Given the description of an element on the screen output the (x, y) to click on. 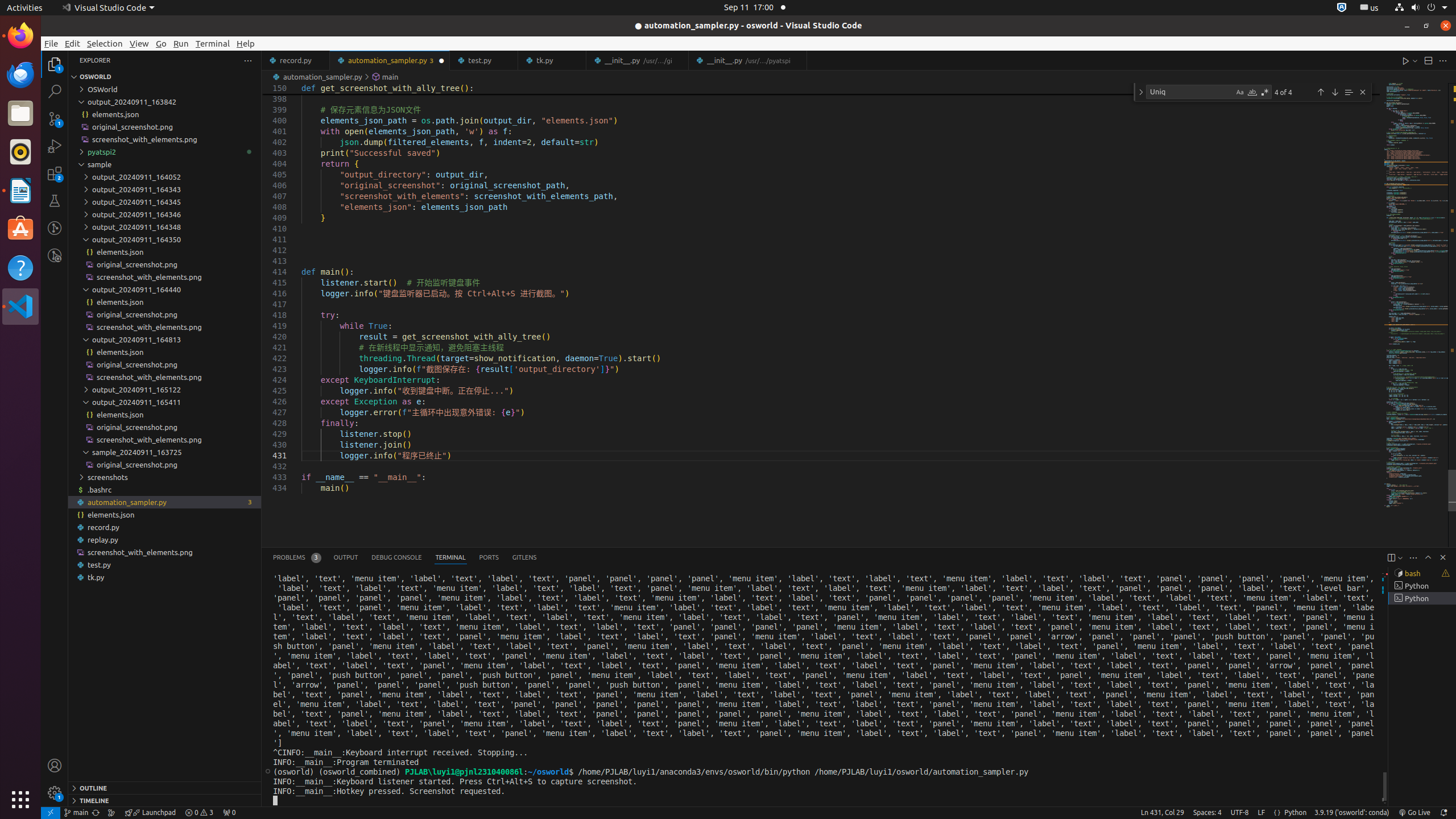
tk.py Element type: tree-item (164, 577)
Close (Escape) Element type: push-button (1362, 91)
Use Regular Expression (Alt+R) Element type: check-box (1264, 91)
